Given the description of an element on the screen output the (x, y) to click on. 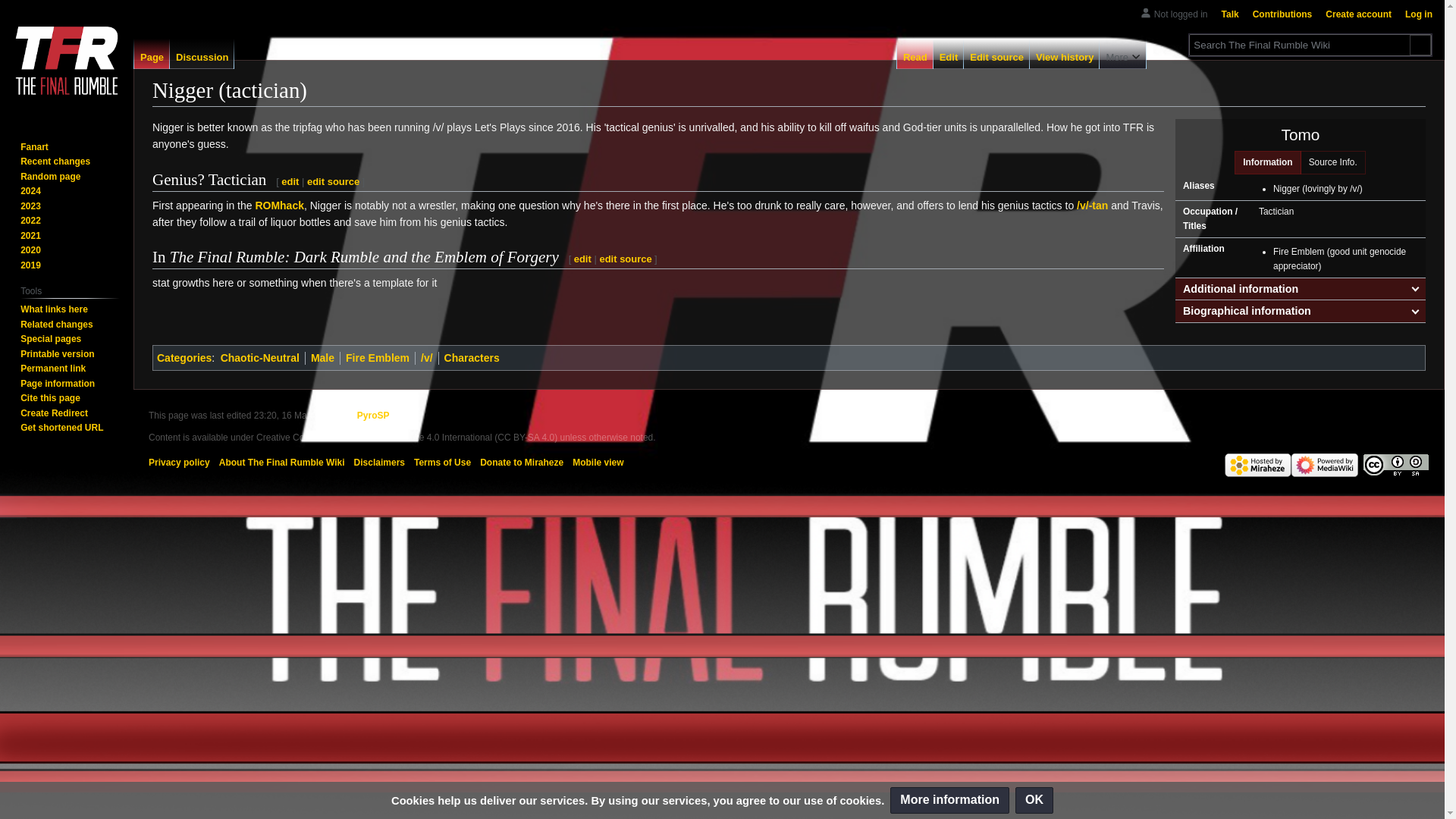
Category:Characters (471, 357)
Fire Emblem (377, 357)
Discussion (202, 53)
Go (1420, 45)
The user page for the IP address you are editing as (1181, 14)
Characters (471, 357)
Special:Categories (184, 357)
Category:Chaotic-Neutral (260, 357)
Talk (1230, 14)
Log in (1418, 14)
Go (1420, 45)
Edit section's source code: Genius? Tactician (333, 181)
edit (582, 258)
